Given the description of an element on the screen output the (x, y) to click on. 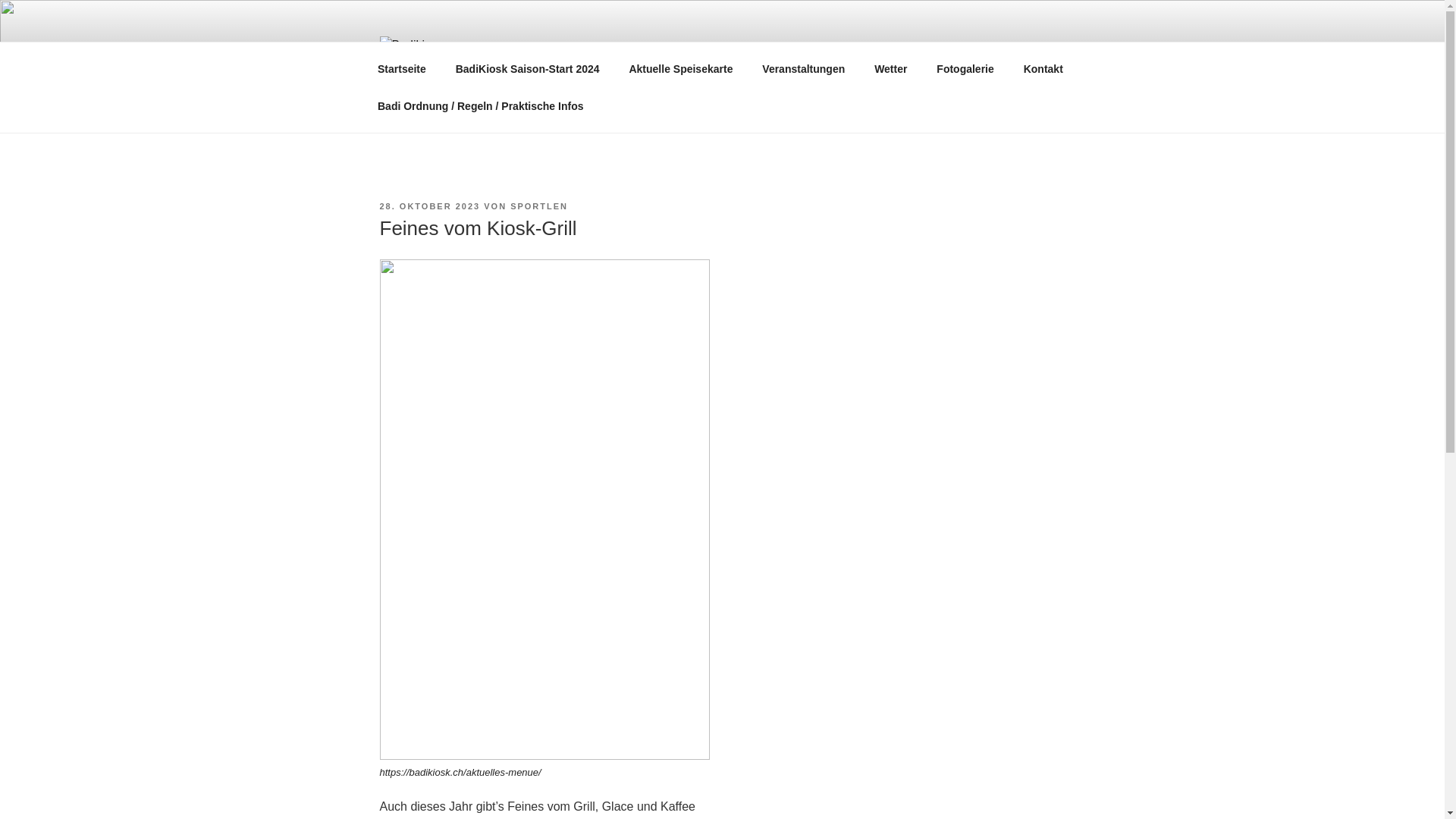
BADIKIOSK AESCH Element type: text (611, 57)
Veranstaltungen Element type: text (803, 68)
Startseite Element type: text (401, 68)
Fotogalerie Element type: text (965, 68)
Aktuelle Speisekarte Element type: text (680, 68)
https://badikiosk.ch/aktuelles-menue/ Element type: text (459, 772)
BadiKiosk Saison-Start 2024 Element type: text (527, 68)
Badi Ordnung / Regeln / Praktische Infos Element type: text (480, 106)
Wetter Element type: text (890, 68)
28. OKTOBER 2023 Element type: text (429, 205)
Kontakt Element type: text (1043, 68)
SPORTLEN Element type: text (538, 205)
